Given the description of an element on the screen output the (x, y) to click on. 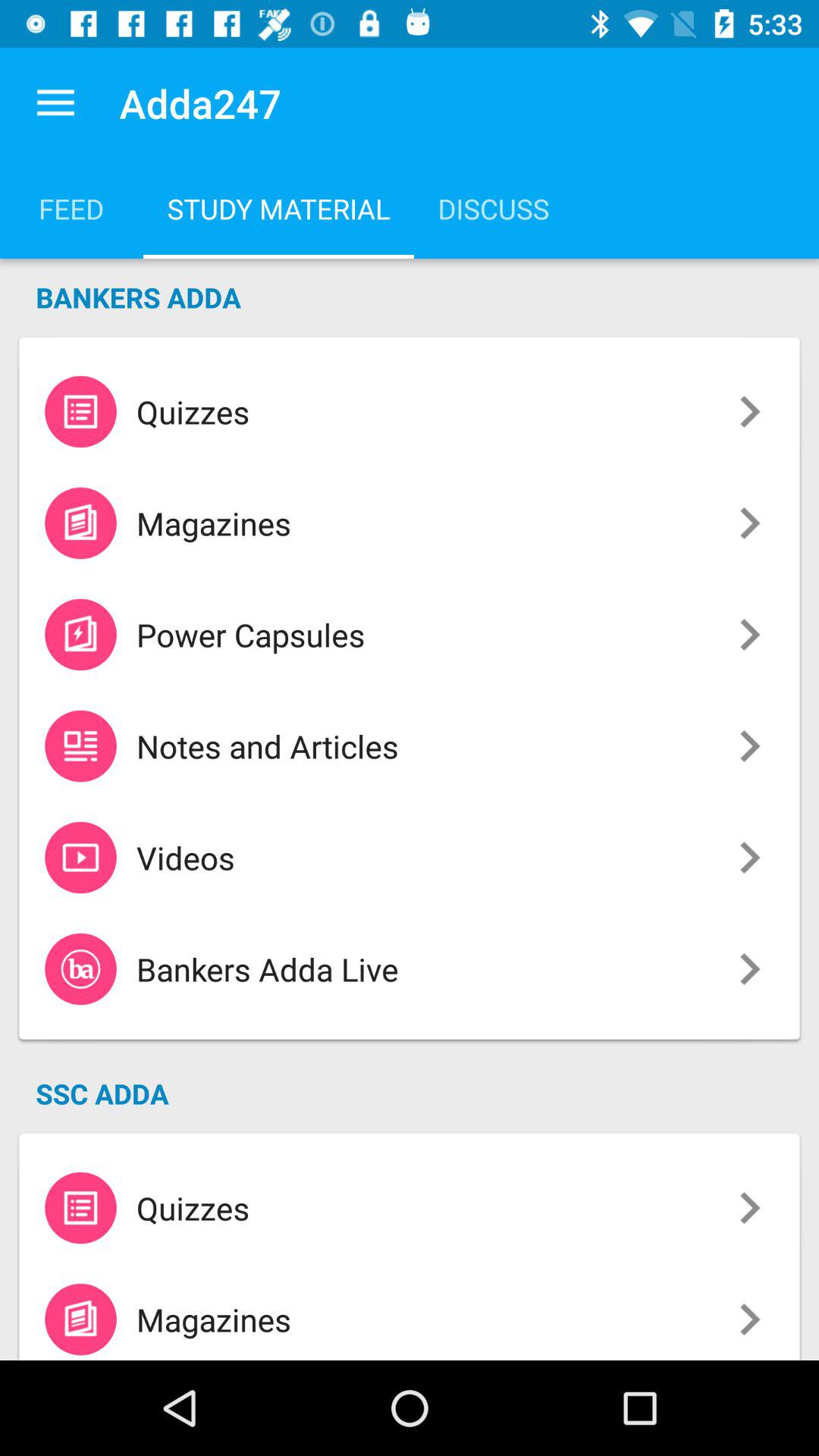
turn on icon above the feed icon (55, 103)
